Given the description of an element on the screen output the (x, y) to click on. 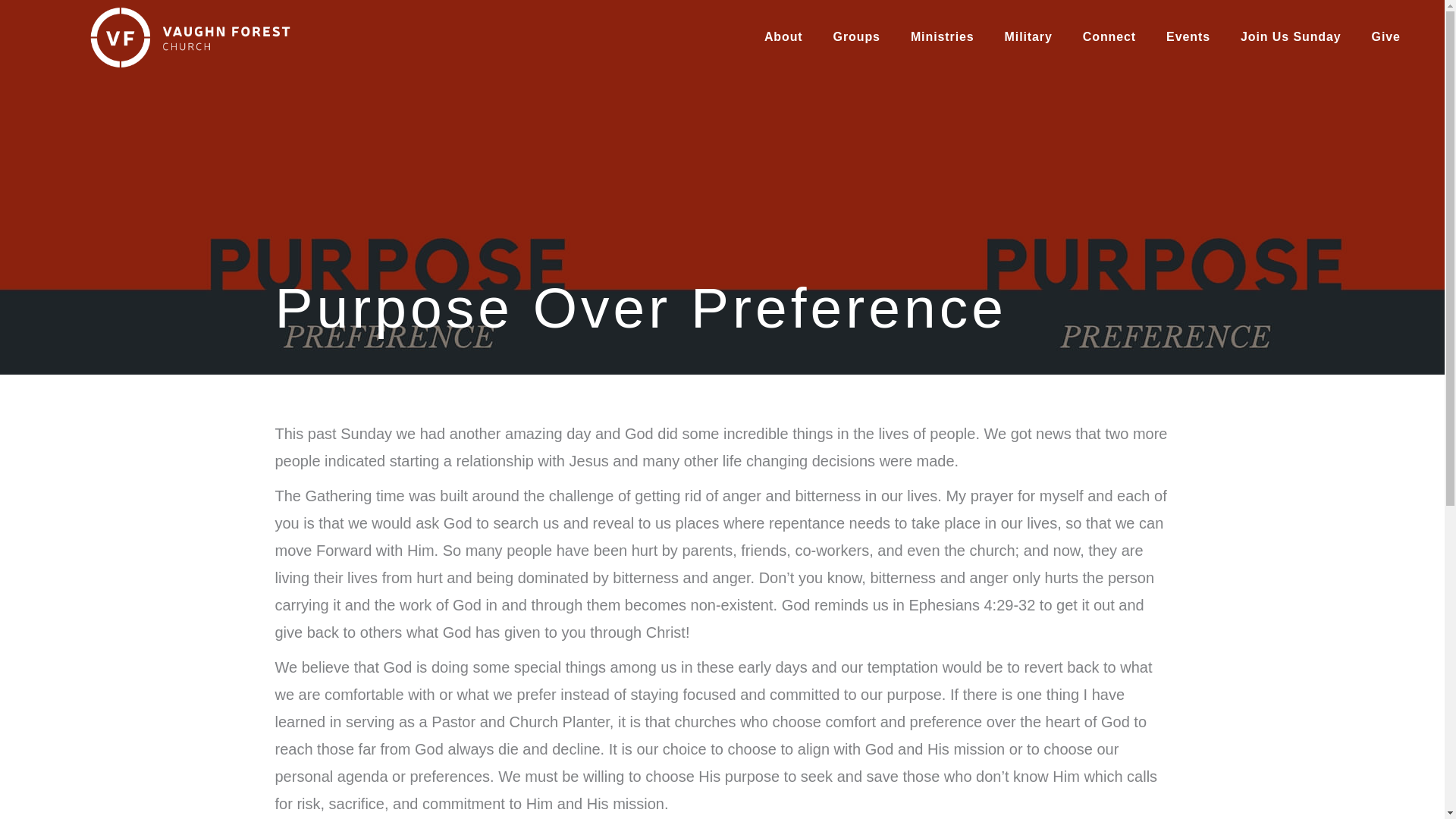
About (783, 37)
Groups (856, 37)
Military (1028, 37)
Give (1385, 37)
Connect (1109, 37)
Events (1188, 37)
Join Us Sunday (1290, 37)
Ministries (942, 37)
